Given the description of an element on the screen output the (x, y) to click on. 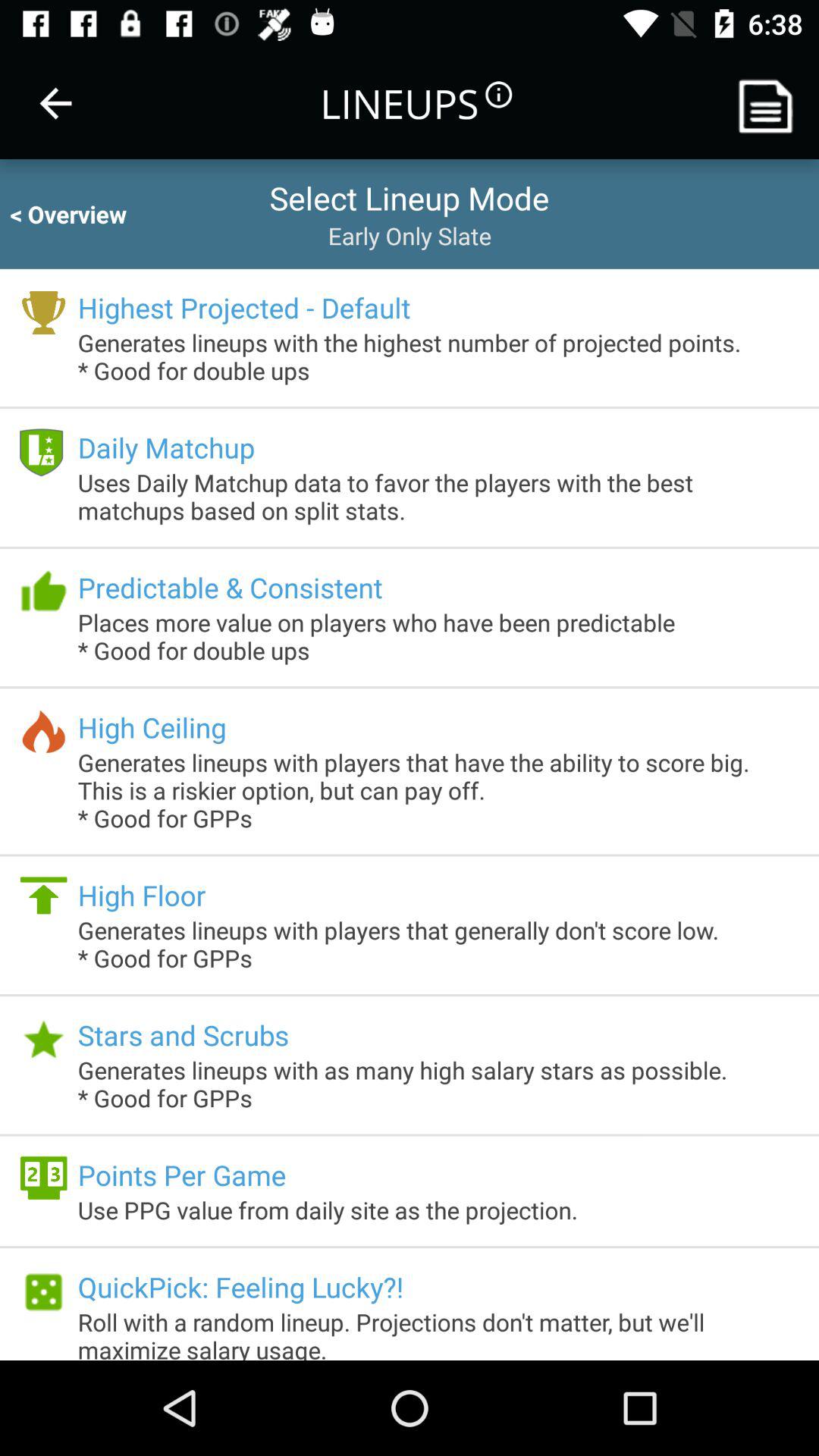
launch the icon at the top right corner (771, 103)
